Given the description of an element on the screen output the (x, y) to click on. 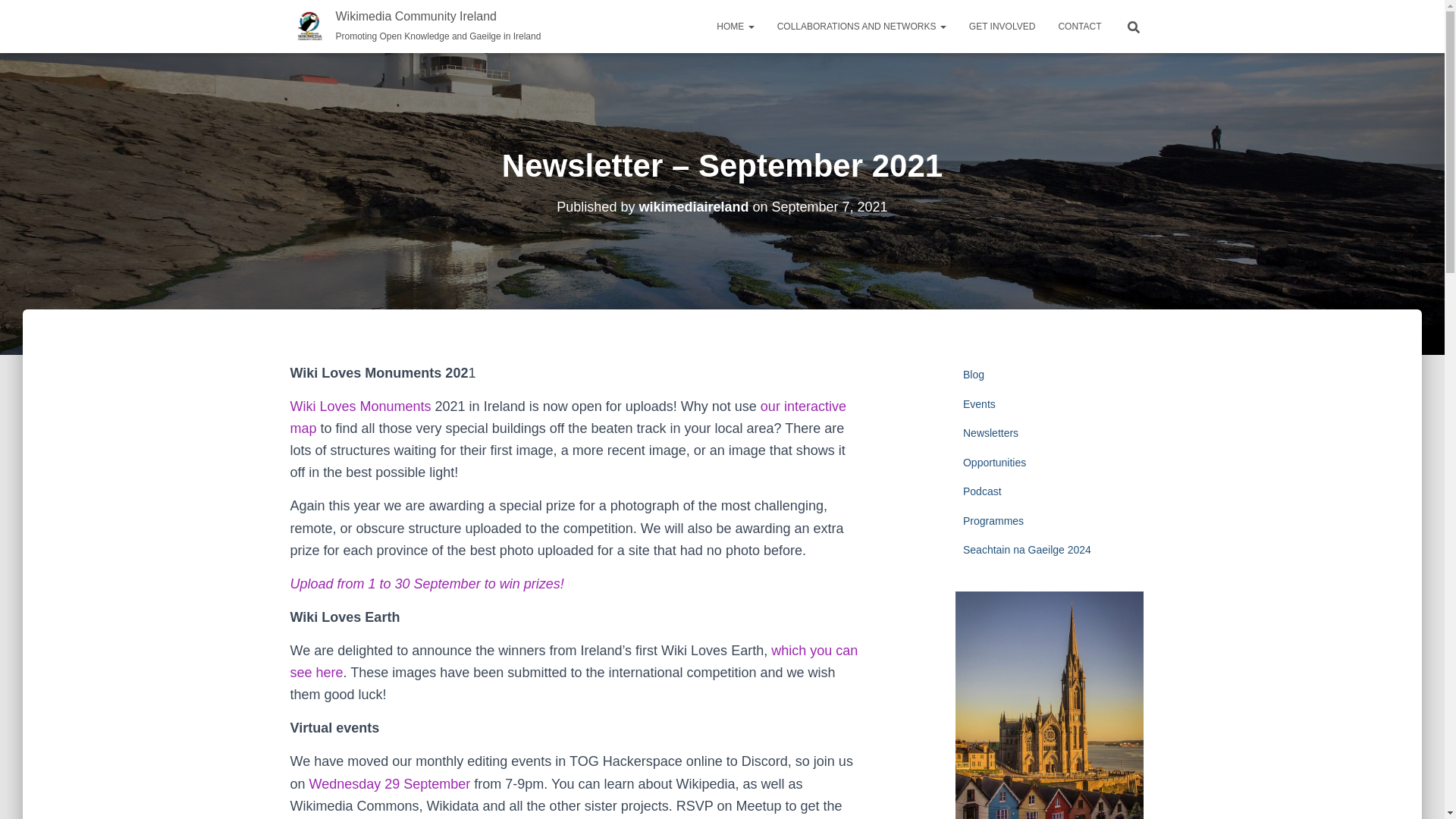
Upload from 1 to 30 September to win prizes! (426, 583)
Blog (973, 374)
Wikimedia Community Ireland (416, 26)
Contact (1079, 26)
Collaborations and Networks (861, 26)
COLLABORATIONS AND NETWORKS (861, 26)
Get involved (1002, 26)
Podcast (981, 491)
Wednesday 29 September (389, 783)
GET INVOLVED (1002, 26)
Programmes (992, 521)
HOME (734, 26)
Events (978, 403)
CONTACT (1079, 26)
